Given the description of an element on the screen output the (x, y) to click on. 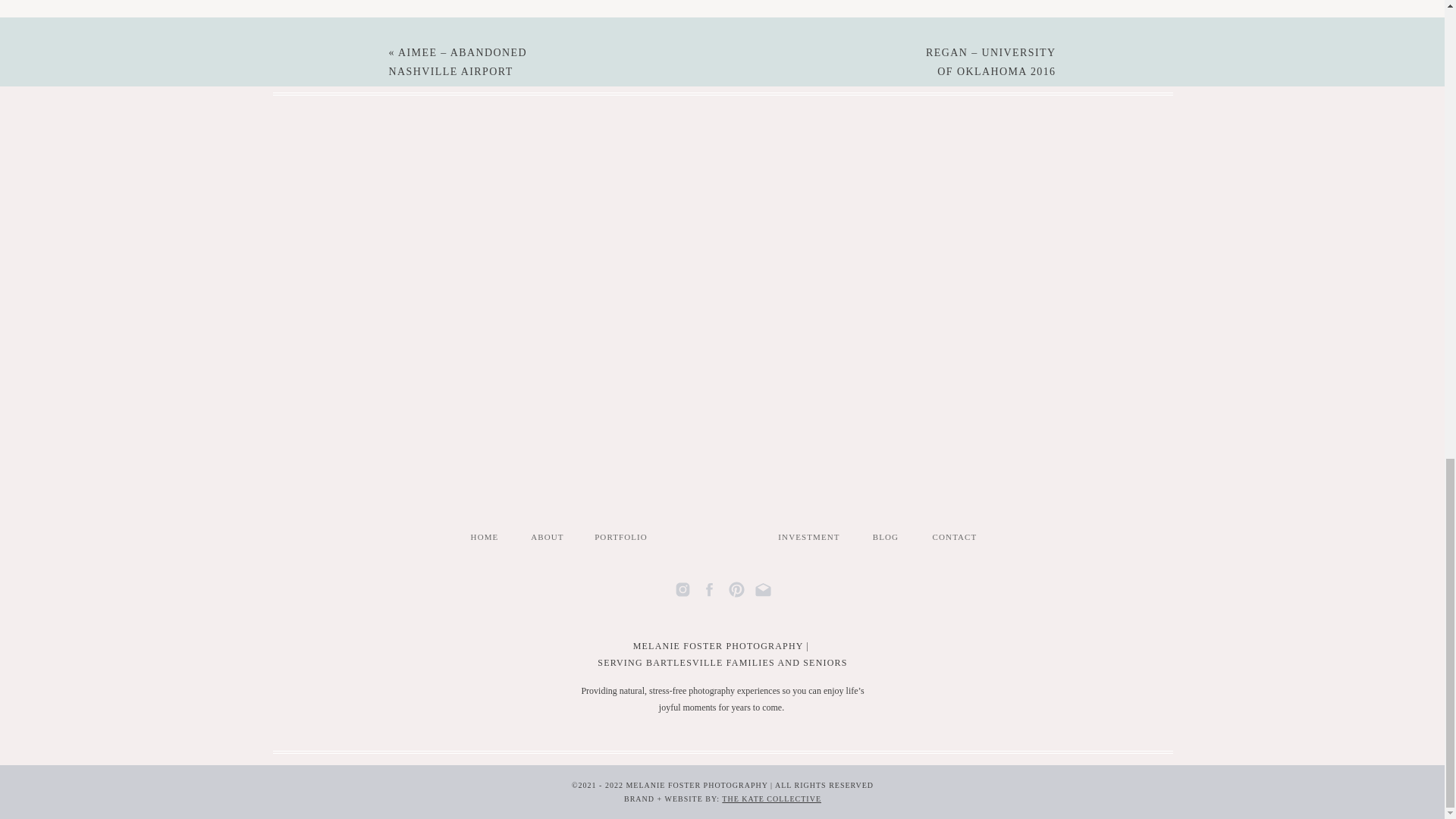
HOME (484, 536)
CONTACT (954, 536)
PORTFOLIO (620, 536)
ABOUT (546, 536)
THE KATE COLLECTIVE (771, 798)
INVESTMENT (808, 536)
BLOG (885, 536)
